Given the description of an element on the screen output the (x, y) to click on. 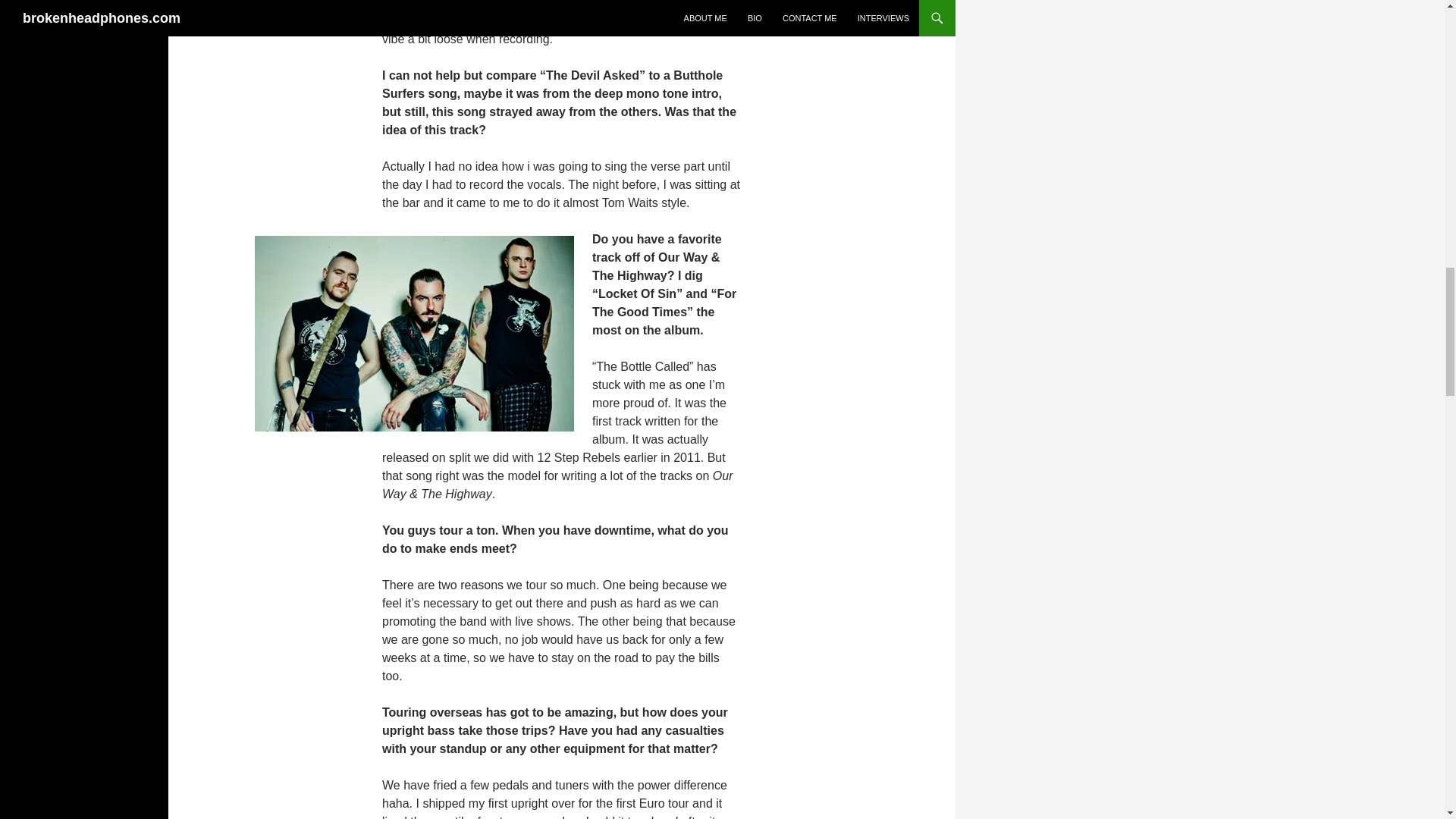
Koffin Kats (413, 333)
